Given the description of an element on the screen output the (x, y) to click on. 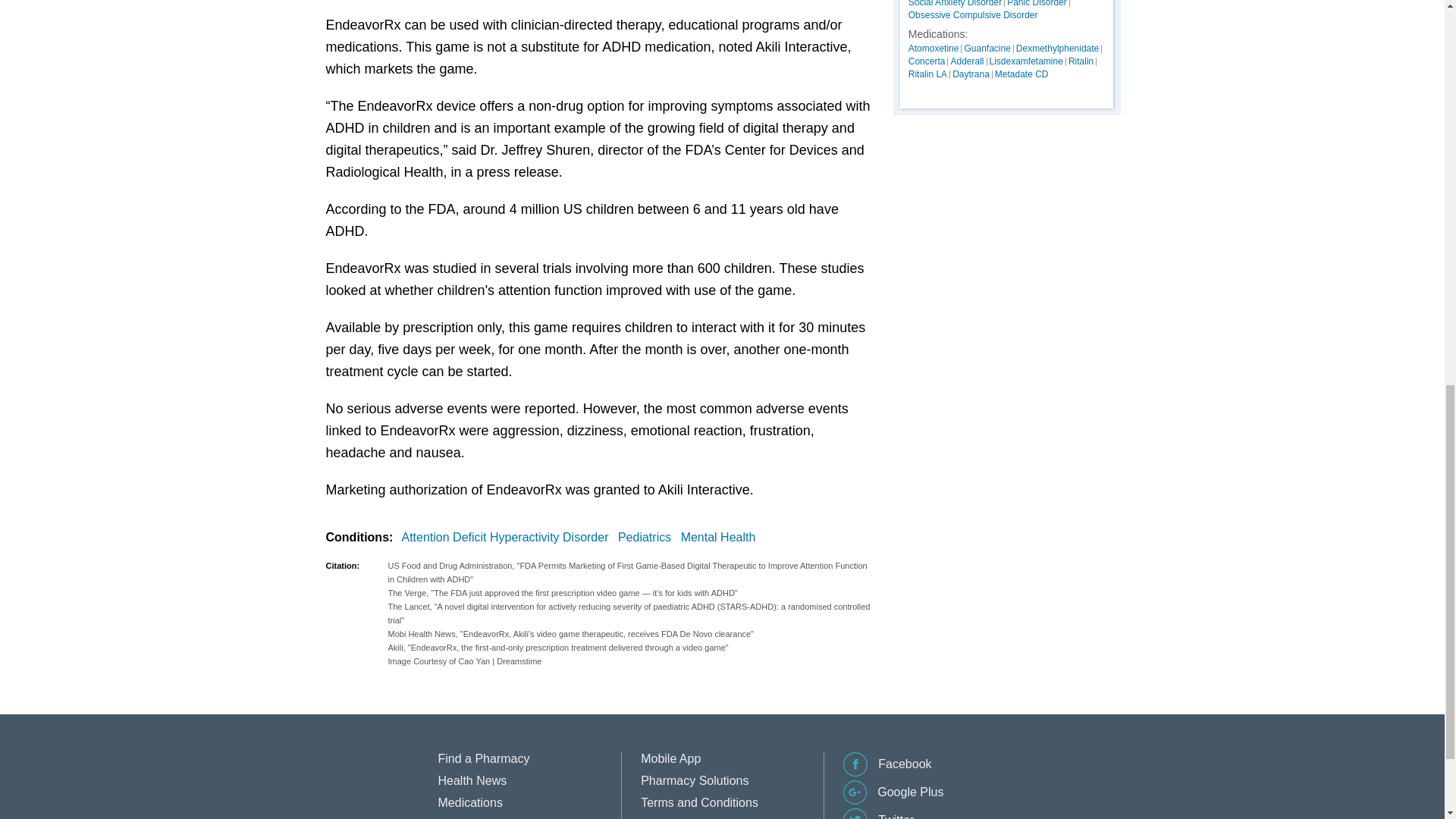
Mental Health (721, 537)
Attention Deficit Hyperactivity Disorder (507, 537)
Pediatrics (647, 537)
